Given the description of an element on the screen output the (x, y) to click on. 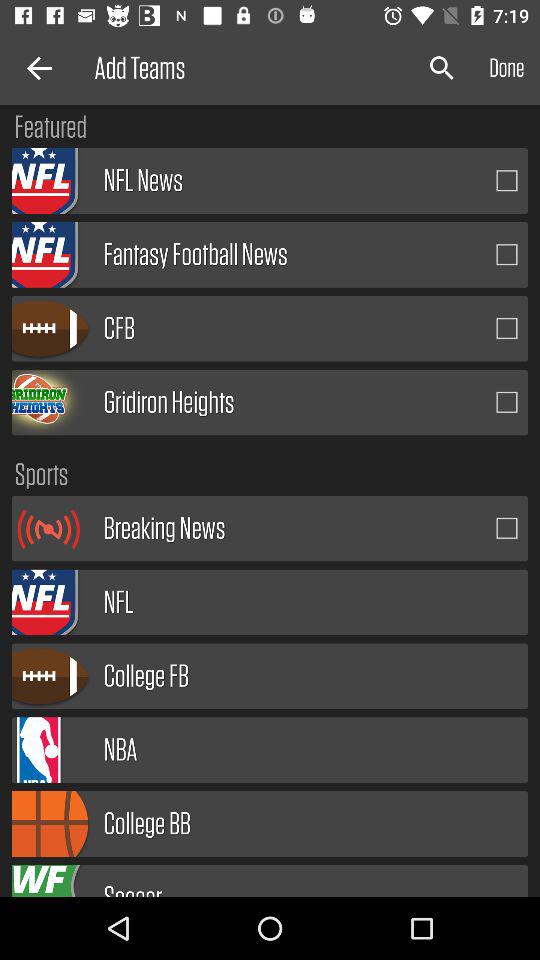
toggle nfl news (507, 180)
